Given the description of an element on the screen output the (x, y) to click on. 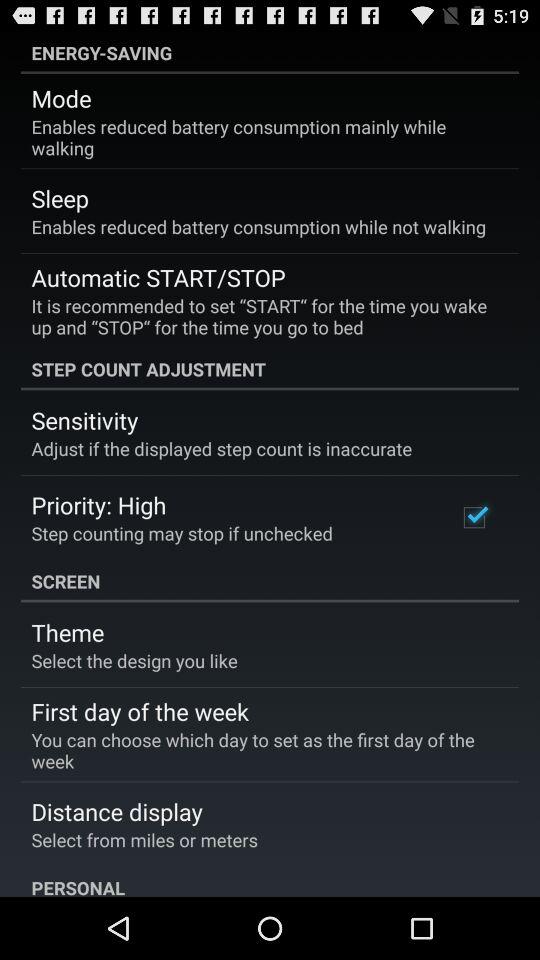
turn off the app above priority: high icon (221, 448)
